Given the description of an element on the screen output the (x, y) to click on. 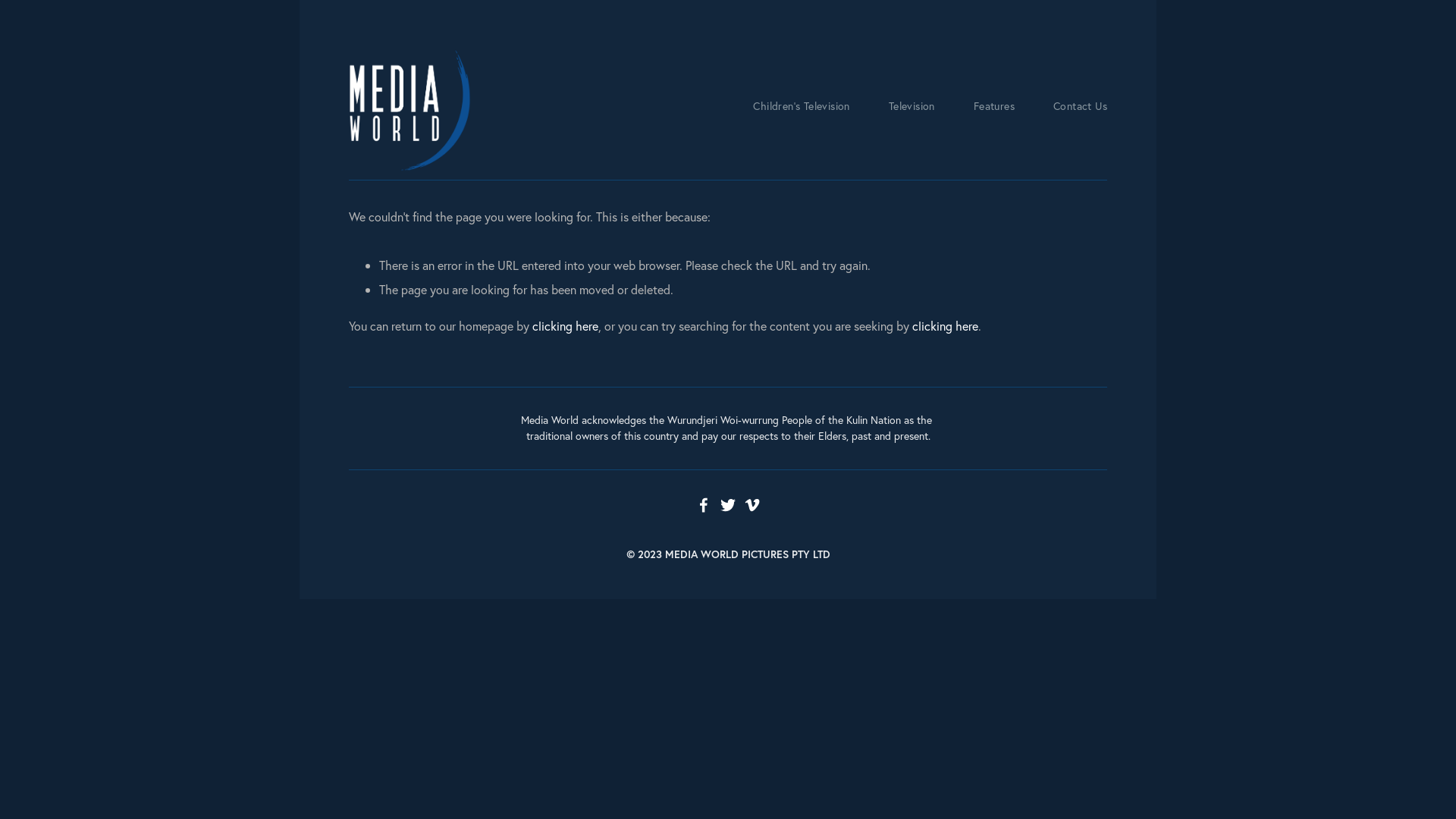
clicking here Element type: text (945, 325)
Television Element type: text (911, 106)
Children's Television Element type: text (801, 106)
Contact Us Element type: text (1080, 106)
Features Element type: text (993, 106)
clicking here Element type: text (565, 325)
